Given the description of an element on the screen output the (x, y) to click on. 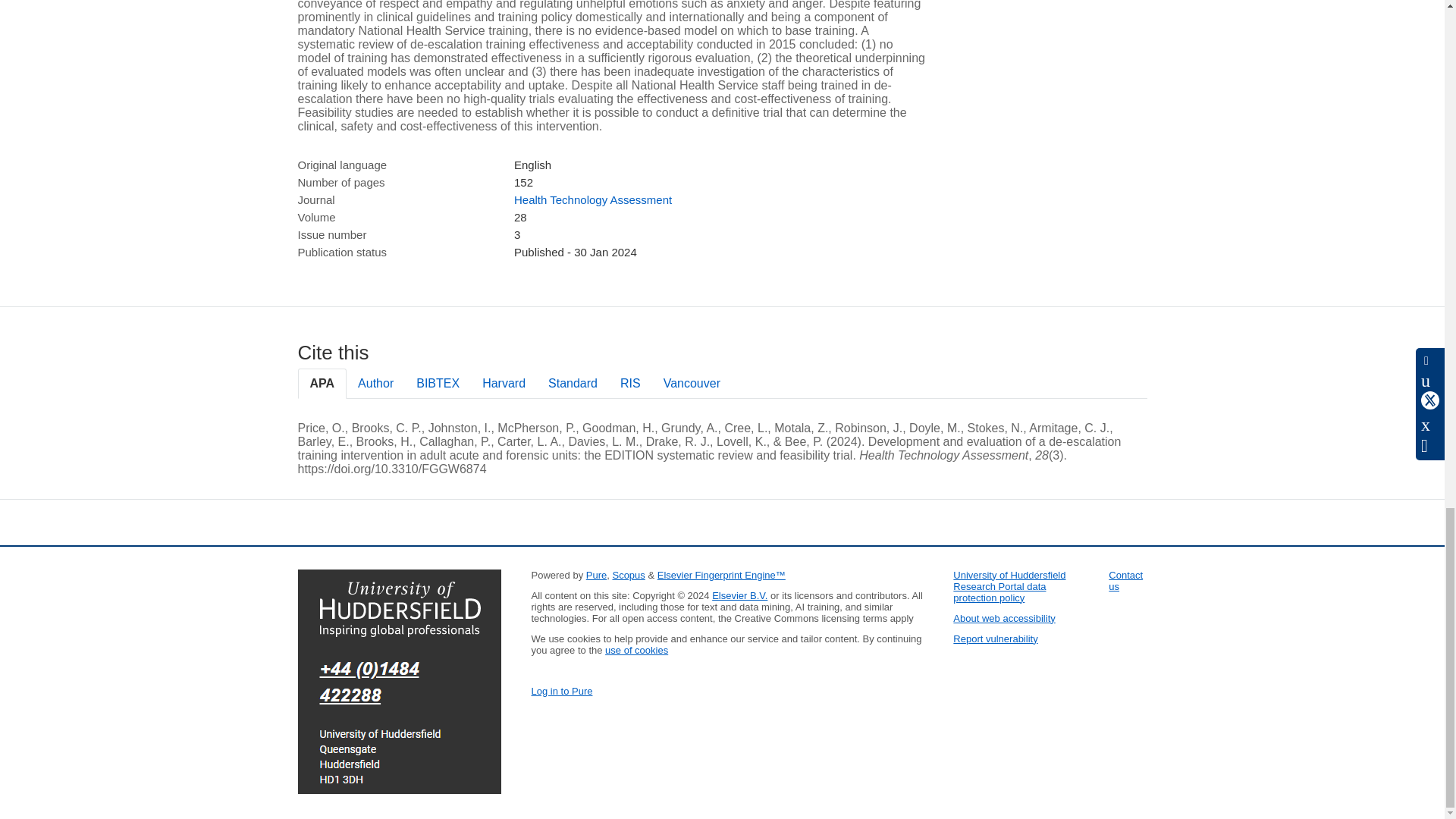
Elsevier B.V. (739, 595)
Pure (596, 574)
Health Technology Assessment (592, 199)
Log in to Pure (561, 690)
Scopus (628, 574)
use of cookies (636, 650)
